Given the description of an element on the screen output the (x, y) to click on. 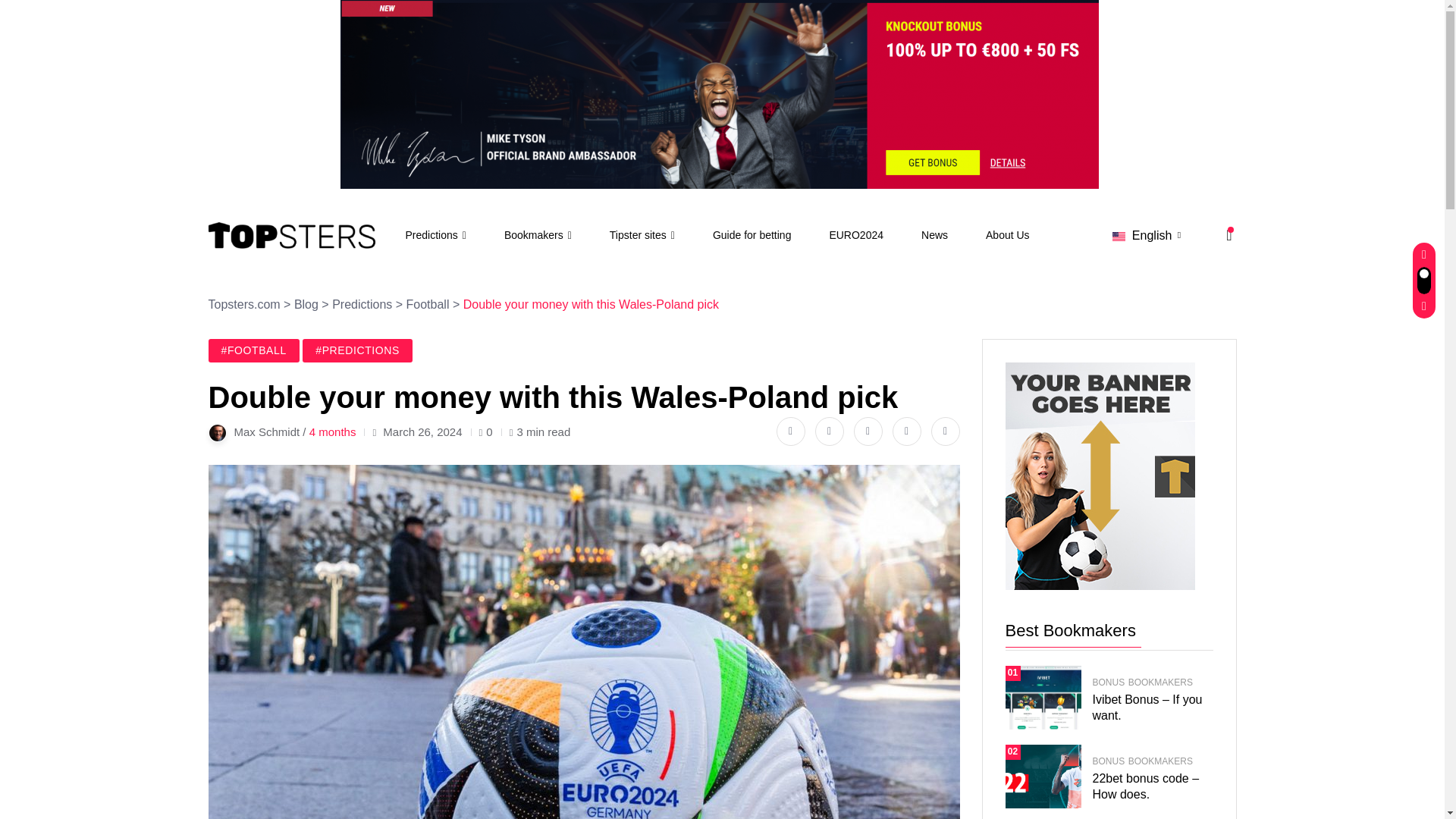
Go to the Football Category archives. (427, 304)
Guide for betting (752, 234)
English (1146, 238)
Bookmakers (537, 235)
Go to Topsters.com. (243, 304)
Go to Blog. (306, 304)
Go to the Predictions Category archives. (361, 304)
Tipster sites (642, 235)
